Given the description of an element on the screen output the (x, y) to click on. 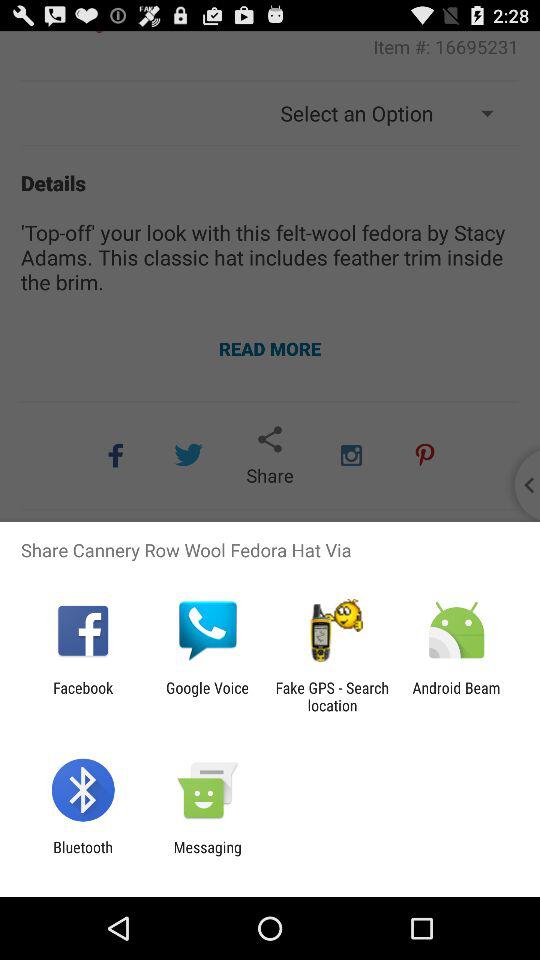
launch the app next to google voice (83, 696)
